Given the description of an element on the screen output the (x, y) to click on. 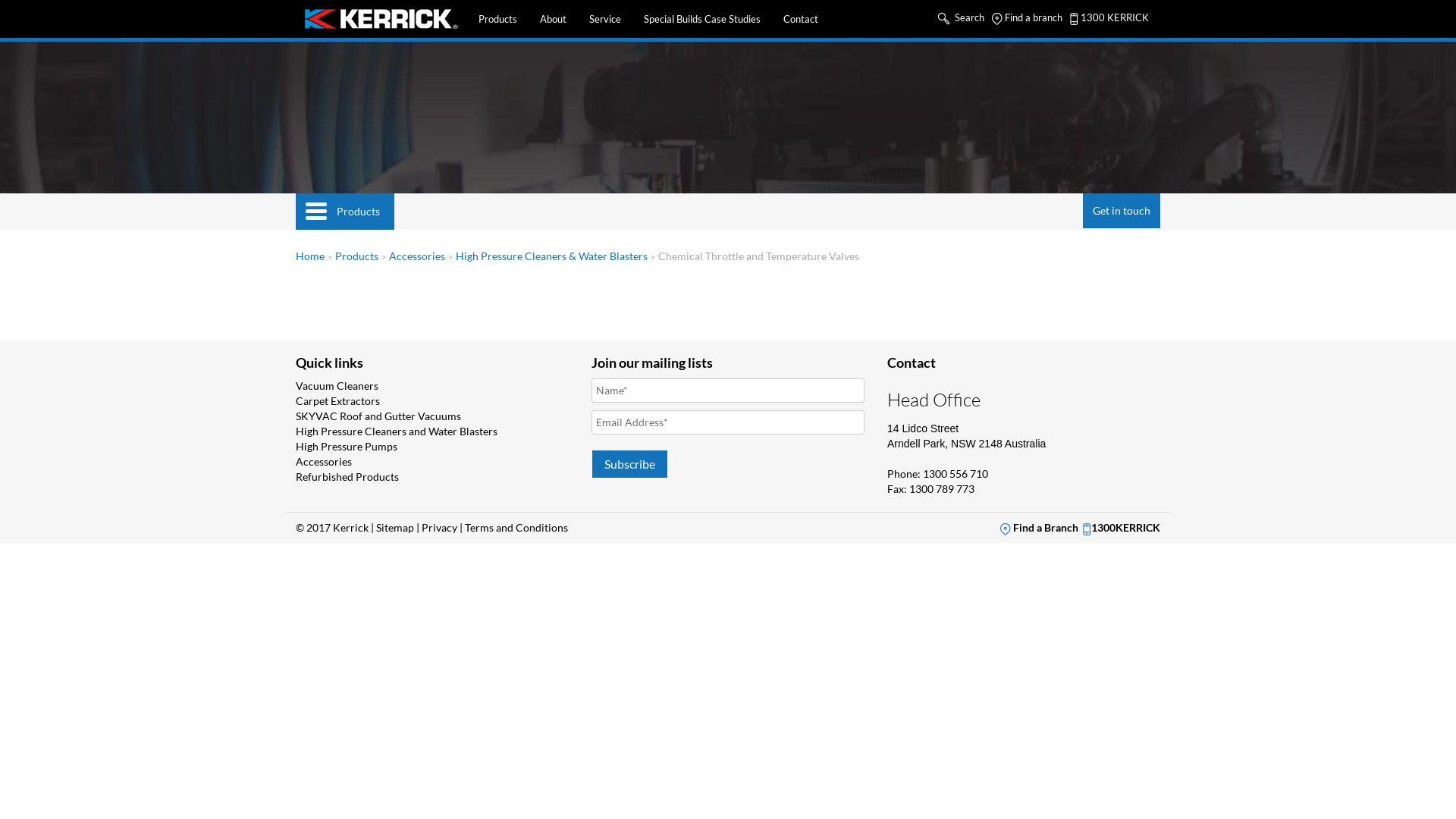
 Search Element type: text (961, 17)
Service Element type: text (604, 18)
Products Element type: text (497, 18)
Carpet Extractors Element type: text (337, 400)
High Pressure Cleaners and Water Blasters Element type: text (396, 430)
 Find a branch Element type: text (1026, 17)
Accessories Element type: text (323, 461)
Home Element type: text (309, 255)
Accessories Element type: text (417, 255)
Find a Branch Element type: text (1039, 526)
Special Builds Case Studies Element type: text (701, 18)
1300KERRICK Element type: text (1121, 526)
Get in touch Element type: text (1121, 210)
Contact Element type: text (800, 18)
Privacy Element type: text (439, 526)
 1300 KERRICK Element type: text (1109, 17)
SKYVAC Roof and Gutter Vacuums Element type: text (378, 415)
Products Element type: text (356, 255)
About Element type: text (552, 18)
High Pressure Pumps Element type: text (346, 445)
Refurbished Products Element type: text (346, 476)
Vacuum Cleaners Element type: text (336, 385)
High Pressure Cleaners & Water Blasters Element type: text (551, 255)
Terms and Conditions Element type: text (515, 526)
Subscribe Element type: text (629, 463)
Sitemap Element type: text (395, 526)
